Given the description of an element on the screen output the (x, y) to click on. 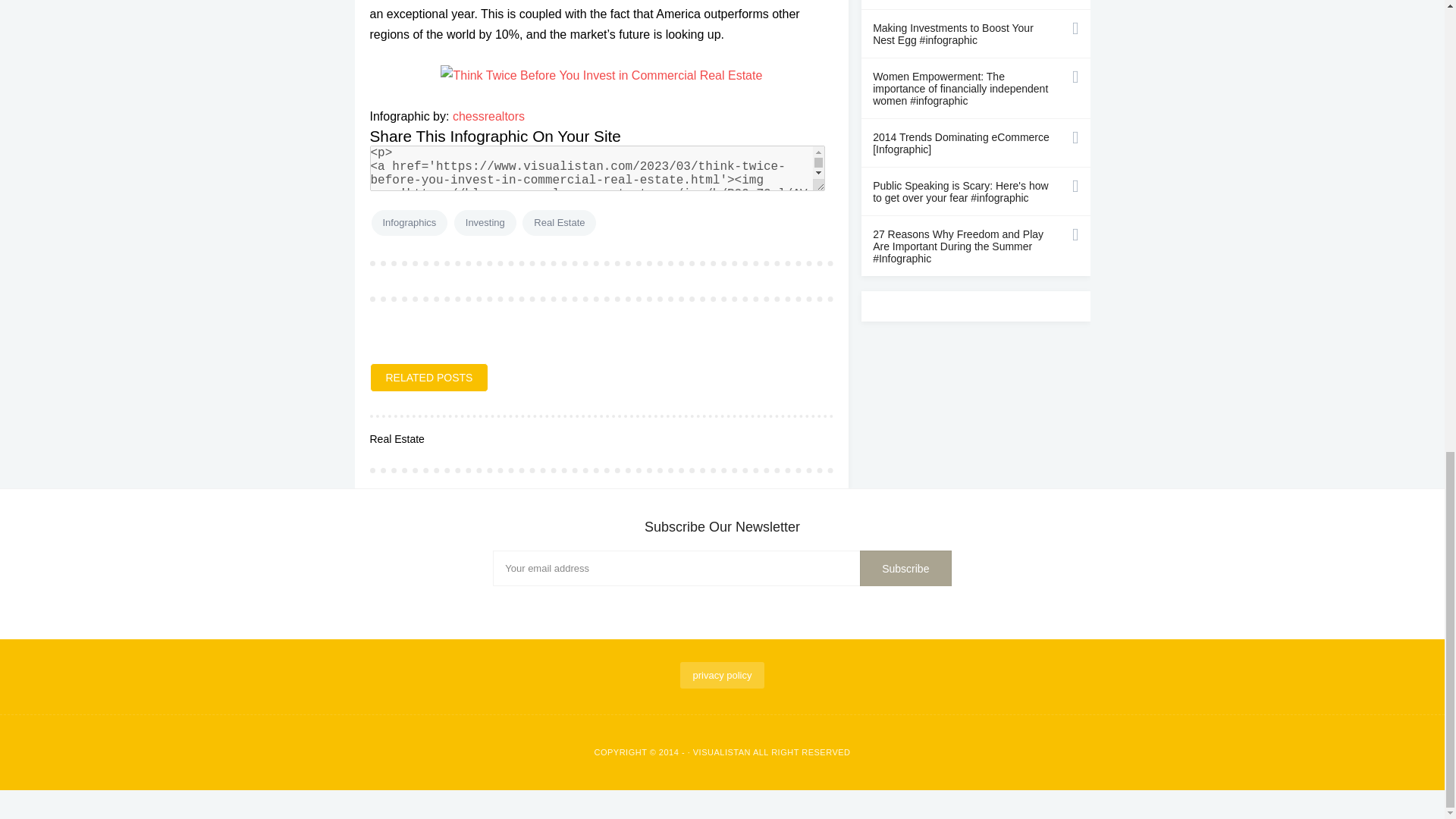
Investing (485, 222)
Infographics (409, 222)
Real Estate (558, 222)
Subscribe (906, 568)
Email (722, 568)
chessrealtors (488, 115)
